Given the description of an element on the screen output the (x, y) to click on. 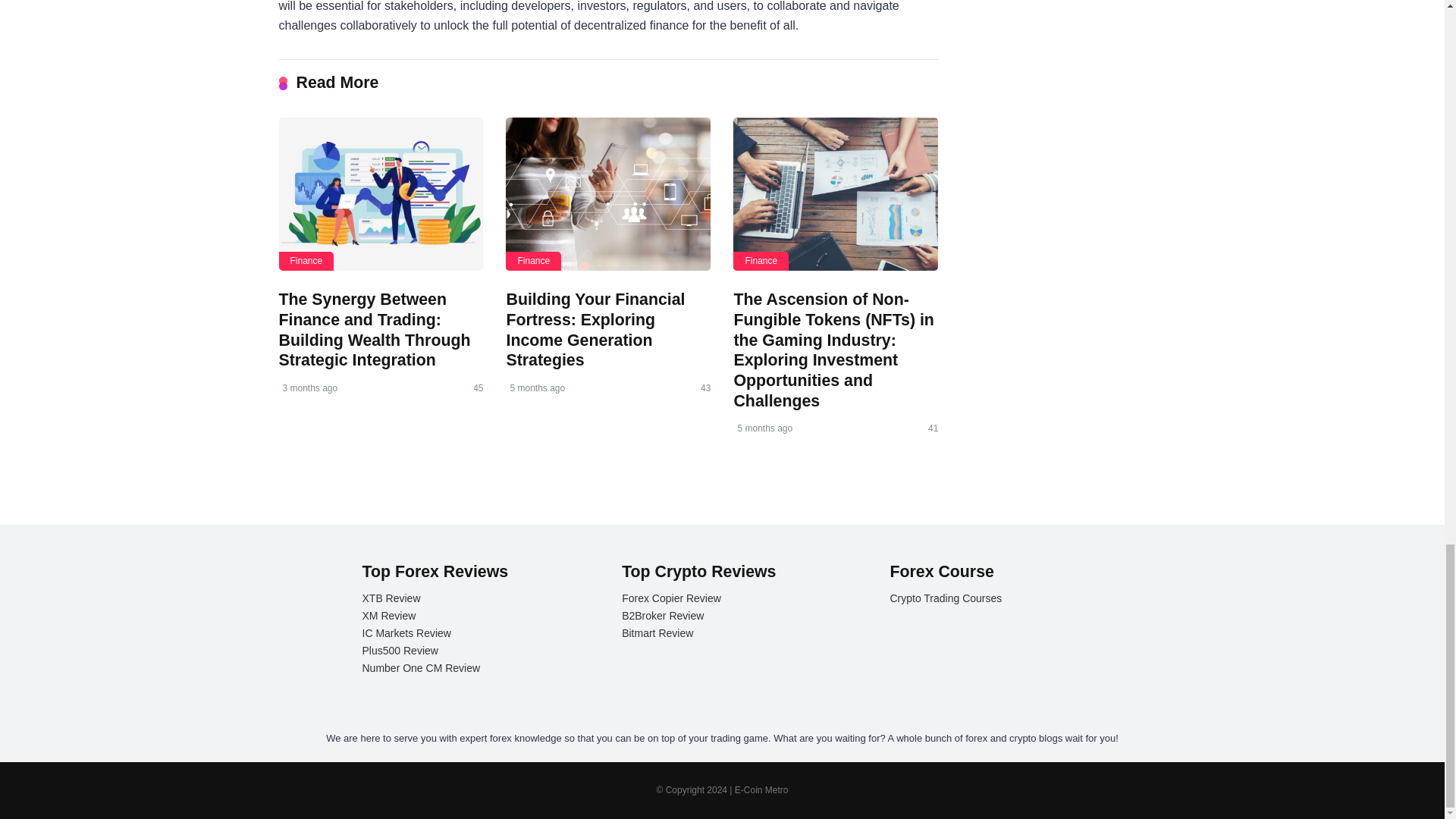
Finance (761, 261)
Finance (532, 261)
Finance (306, 261)
